Given the description of an element on the screen output the (x, y) to click on. 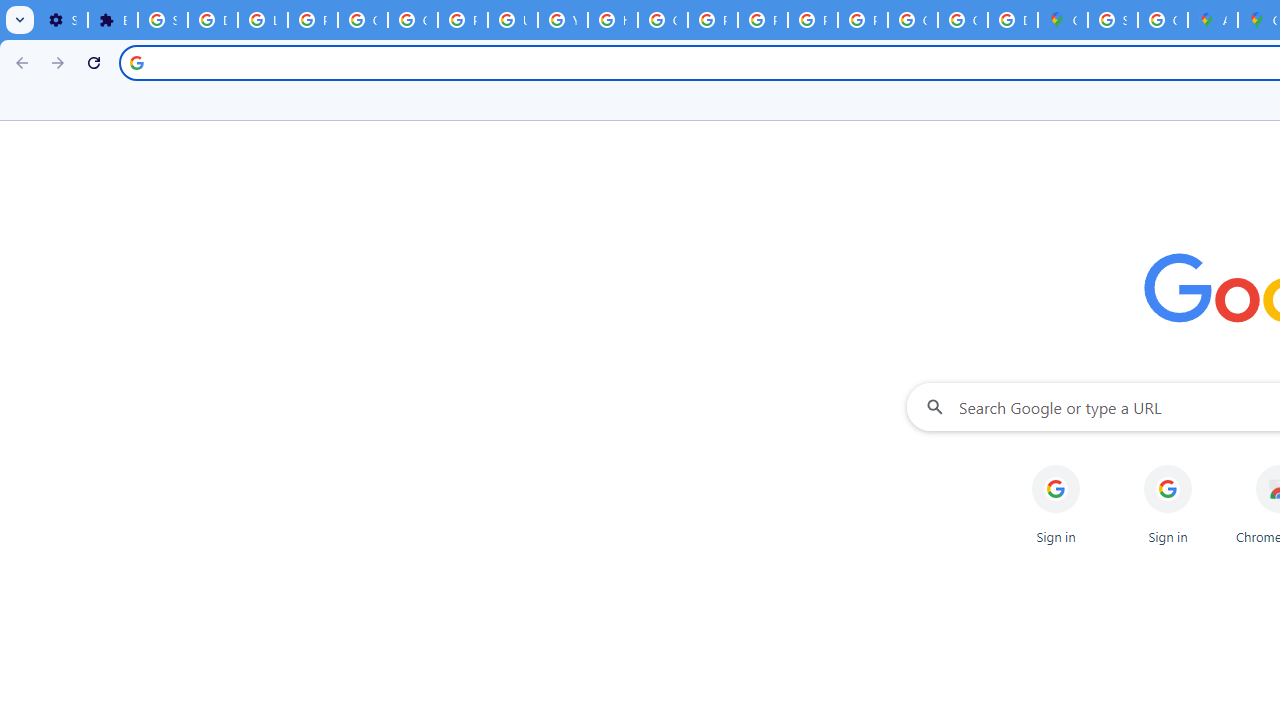
YouTube (562, 20)
Sign in - Google Accounts (163, 20)
Sign in - Google Accounts (1112, 20)
Google Account Help (362, 20)
Settings - On startup (62, 20)
